Given the description of an element on the screen output the (x, y) to click on. 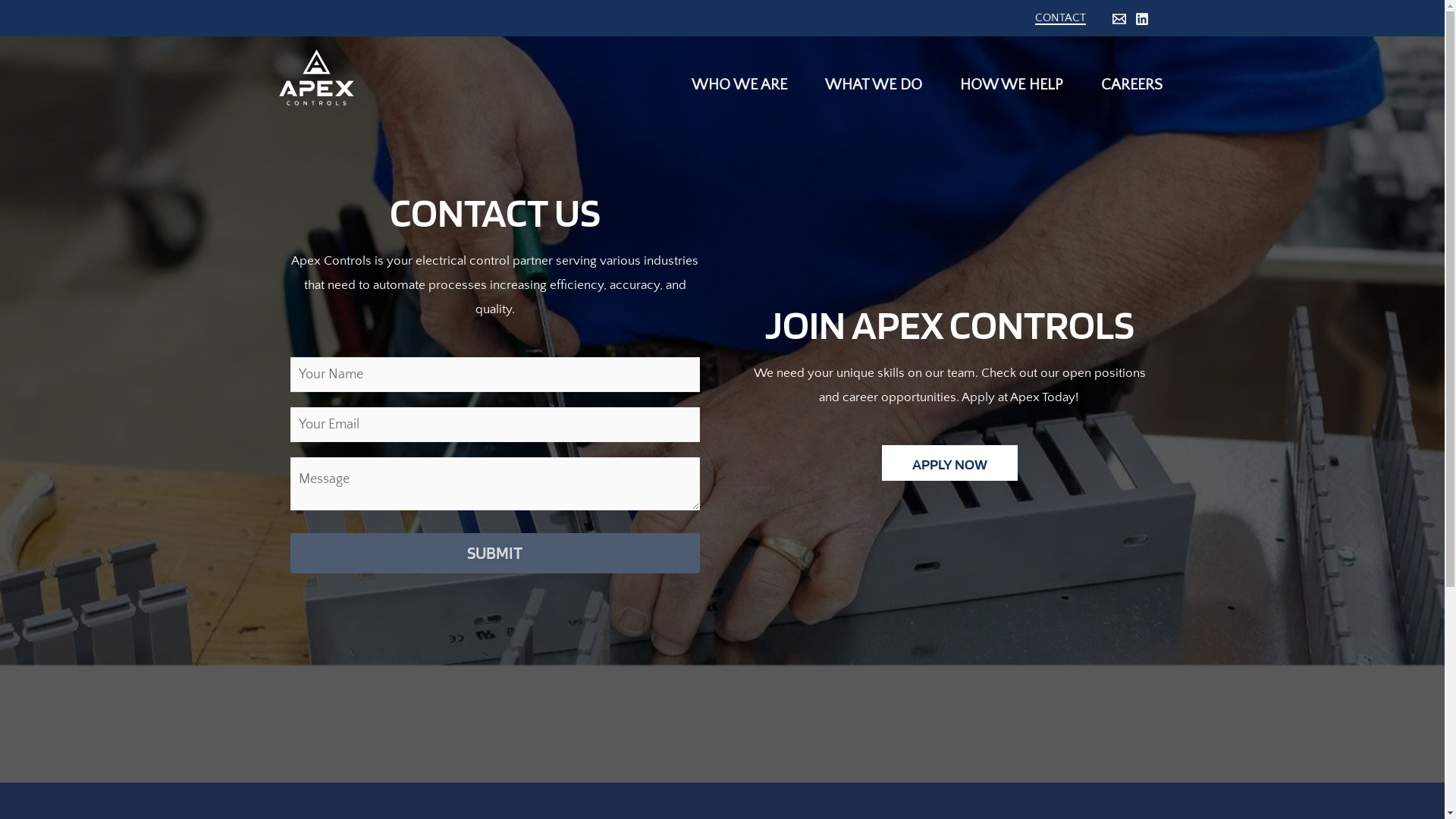
SUBMIT Element type: text (494, 553)
APPLY NOW Element type: text (949, 462)
CONTACT Element type: text (1060, 22)
Search Element type: text (1169, 18)
CAREERS Element type: text (1127, 77)
WHAT WE DO Element type: text (869, 77)
WHO WE ARE Element type: text (735, 77)
HOW WE HELP Element type: text (1007, 77)
